Given the description of an element on the screen output the (x, y) to click on. 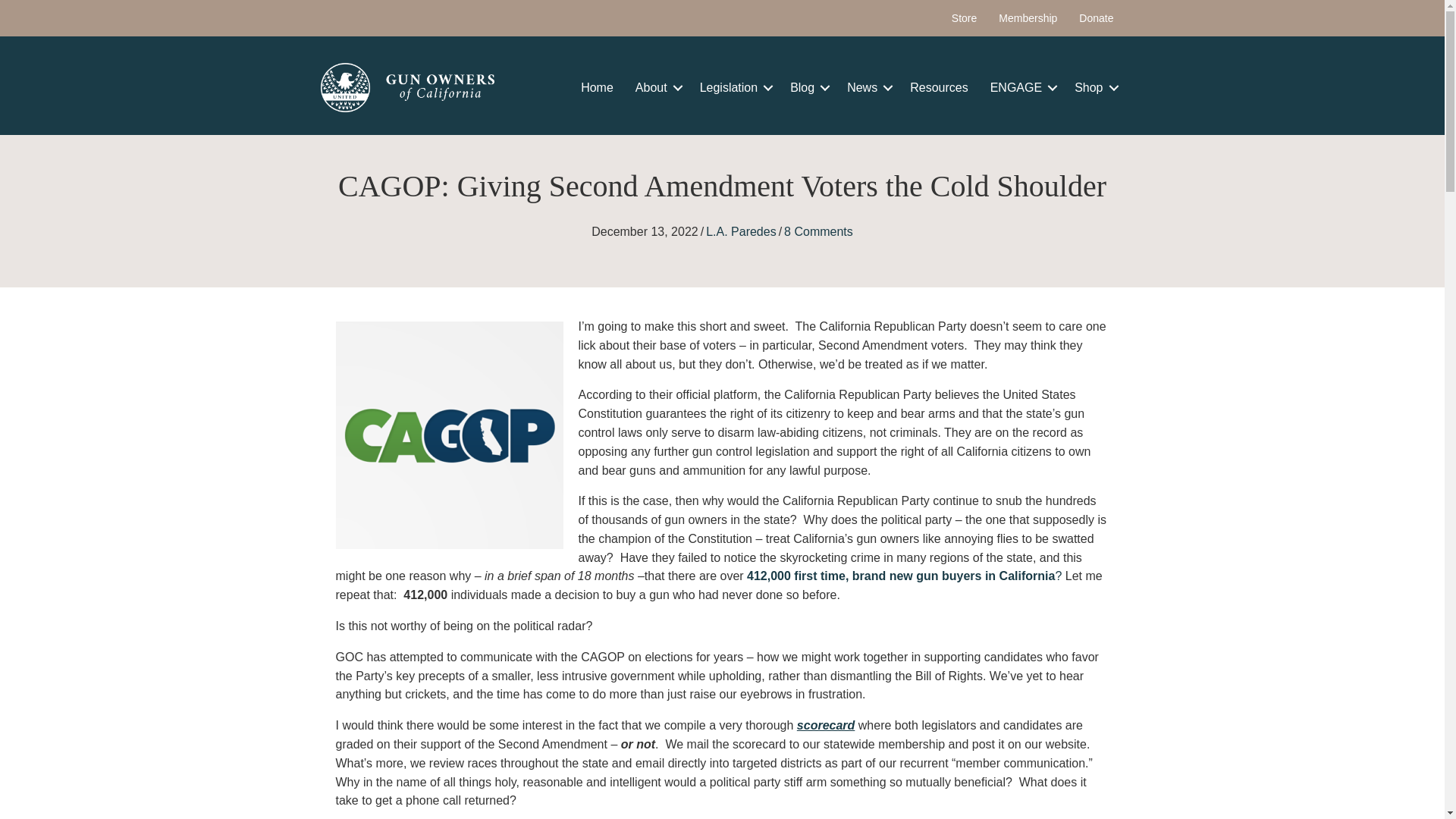
Membership (1027, 18)
About (656, 87)
Resources (938, 87)
Home (597, 87)
Legislation (733, 87)
ENGAGE (1020, 87)
Store (963, 18)
Blog (806, 87)
logo (407, 87)
News (866, 87)
Donate (1096, 18)
